Given the description of an element on the screen output the (x, y) to click on. 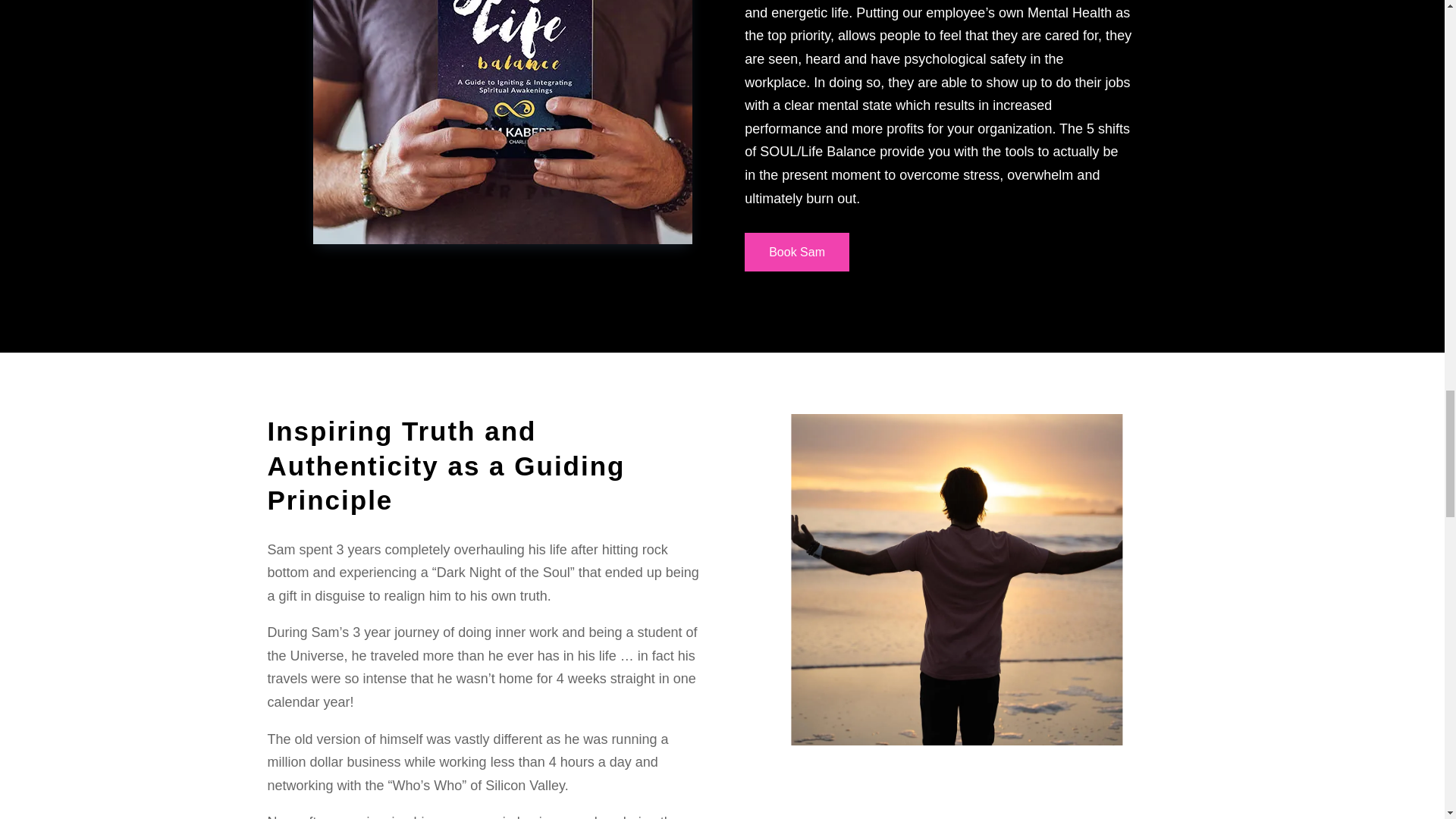
skphotodump9 (967, 579)
Image12 (502, 122)
